Given the description of an element on the screen output the (x, y) to click on. 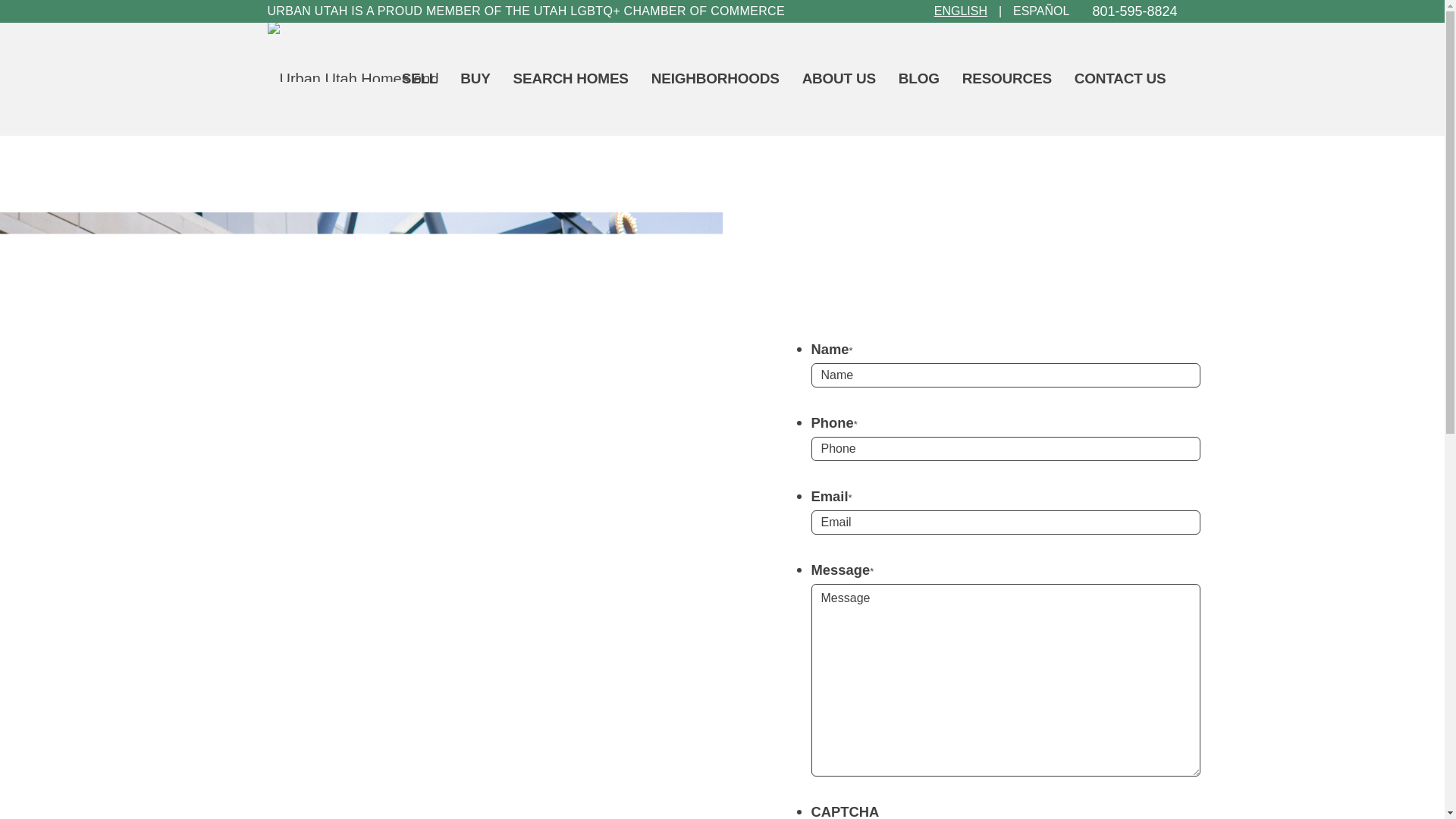
RESOURCES (1006, 78)
801-595-8824 (1134, 11)
urban-utah-new-logo-whole2 (356, 51)
NEIGHBORHOODS (715, 78)
ENGLISH (960, 11)
CONTACT US (1119, 78)
SEARCH HOMES (571, 78)
